Given the description of an element on the screen output the (x, y) to click on. 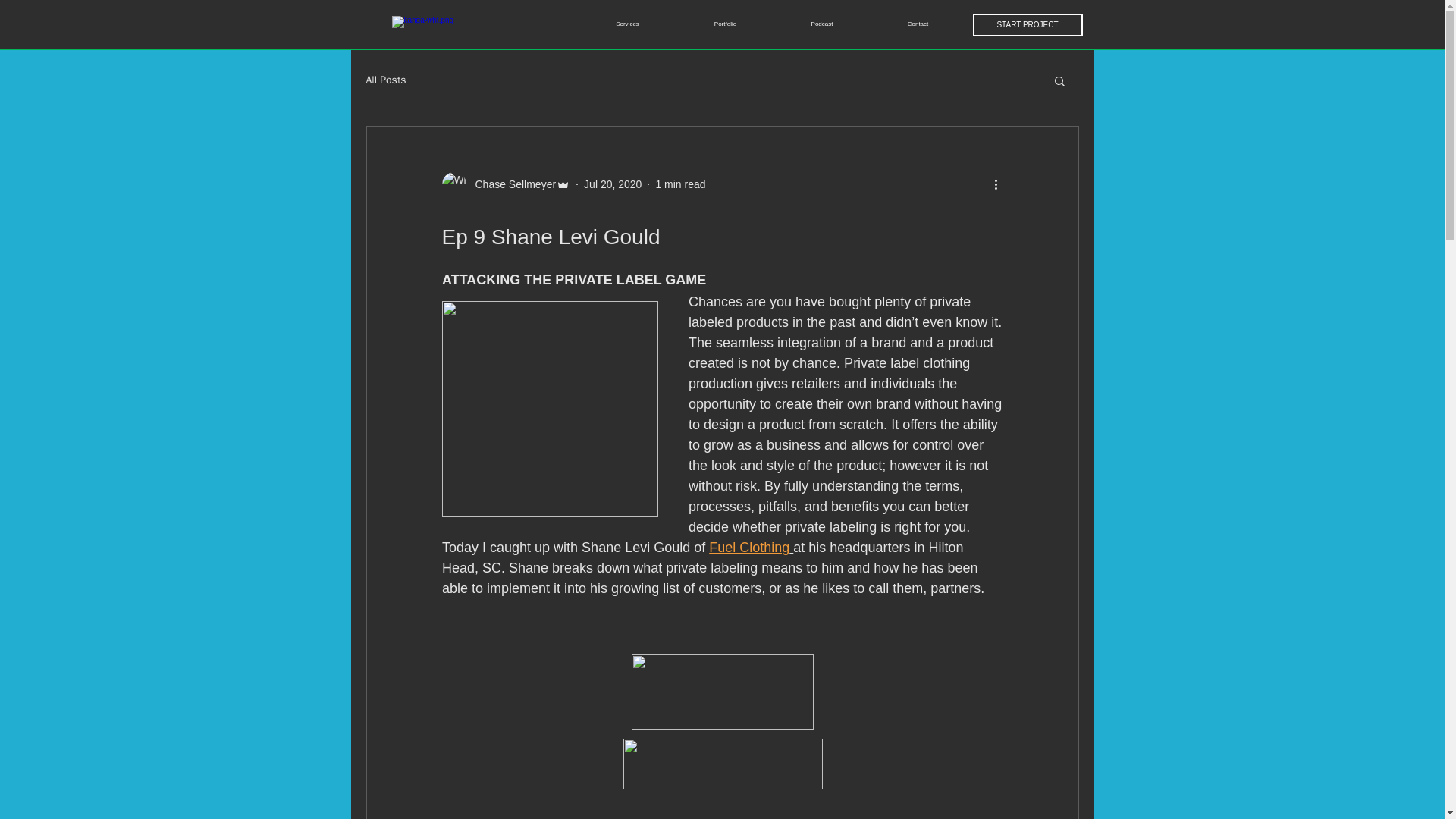
Contact (918, 23)
Fuel Clothing (749, 547)
Jul 20, 2020 (612, 183)
Portfolio (725, 23)
Chase Sellmeyer (510, 183)
Services (627, 23)
Chase Sellmeyer (505, 183)
Podcast (821, 23)
START PROJECT (1026, 24)
1 min read (679, 183)
